Given the description of an element on the screen output the (x, y) to click on. 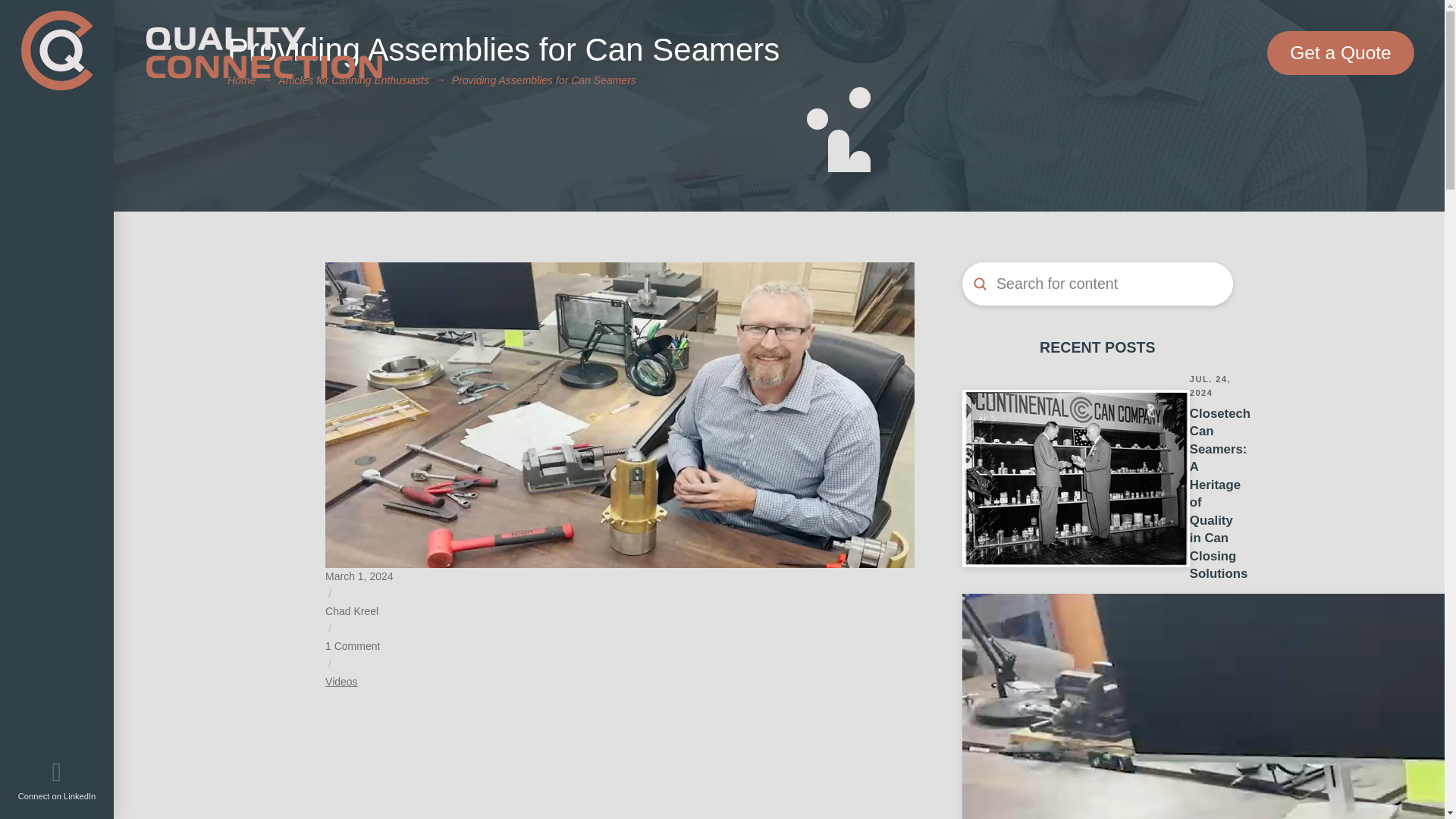
Submit (980, 283)
Providing Assemblies for Can Seamers (543, 79)
Videos (341, 682)
Connect on LinkedIn (57, 780)
You Are Here (543, 79)
1 Comment (352, 646)
Articles for Canning Enthusiasts (353, 79)
Get a Quote (1339, 53)
Home (241, 79)
